Given the description of an element on the screen output the (x, y) to click on. 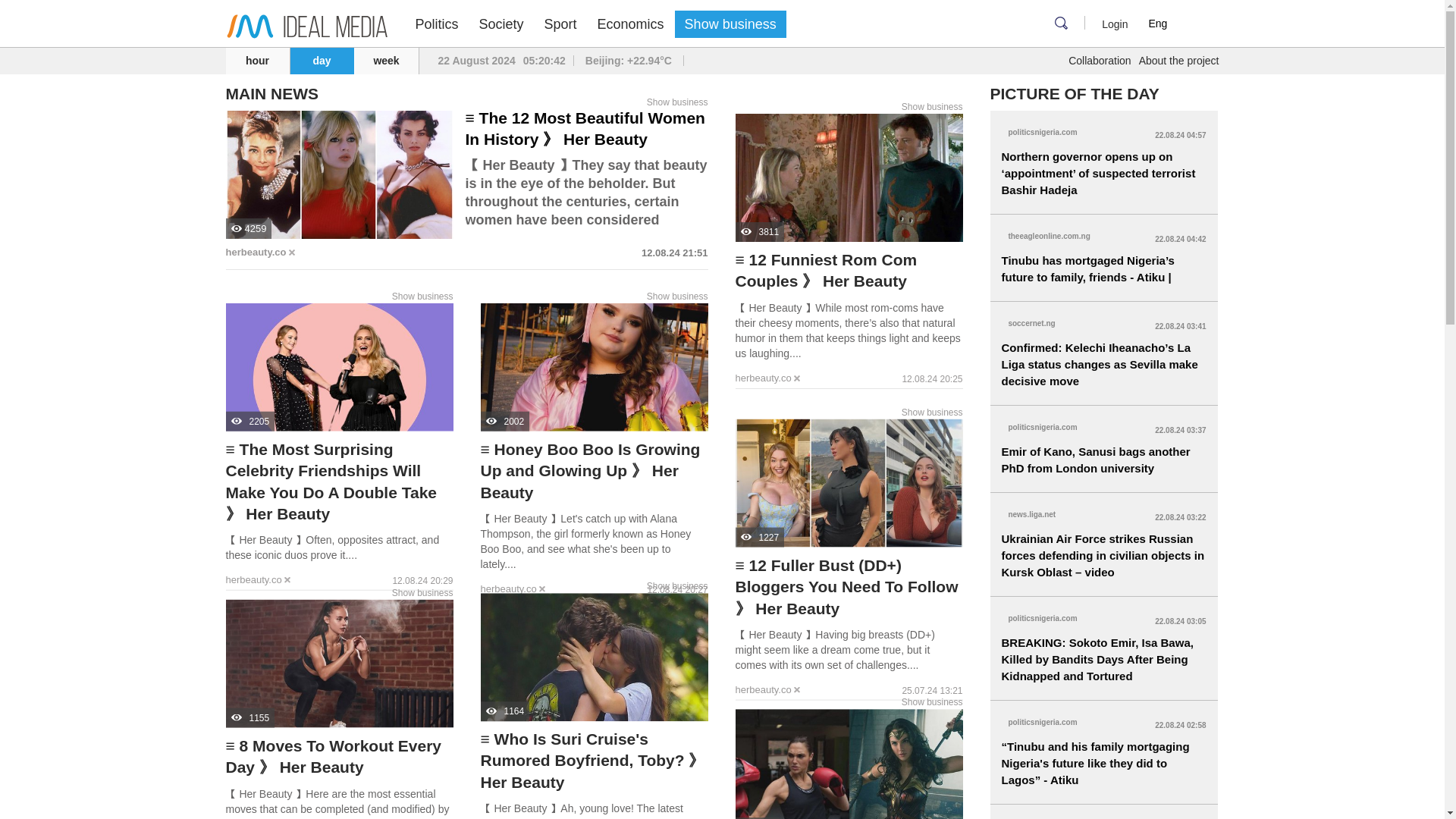
hour (257, 60)
Society (501, 23)
herbeauty.co (253, 579)
Show business (676, 102)
herbeauty.co (255, 251)
Show business (676, 296)
Sport (560, 23)
Economics (631, 23)
Collaboration (1099, 60)
herbeauty.co (763, 378)
